Given the description of an element on the screen output the (x, y) to click on. 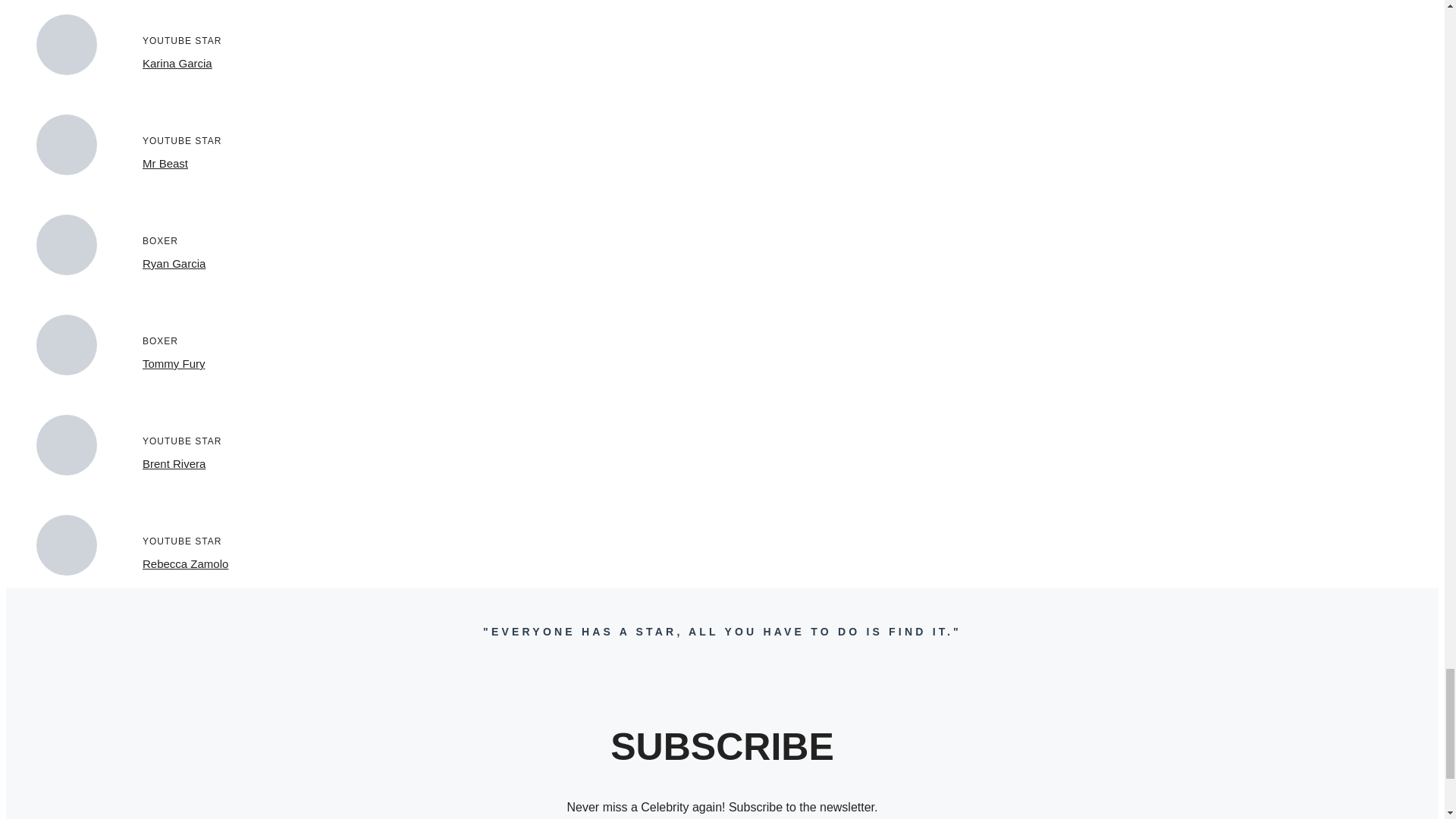
Karina Garcia (177, 62)
Ryan Garcia (173, 263)
Mr Beast (164, 163)
Tommy Fury (173, 363)
